Given the description of an element on the screen output the (x, y) to click on. 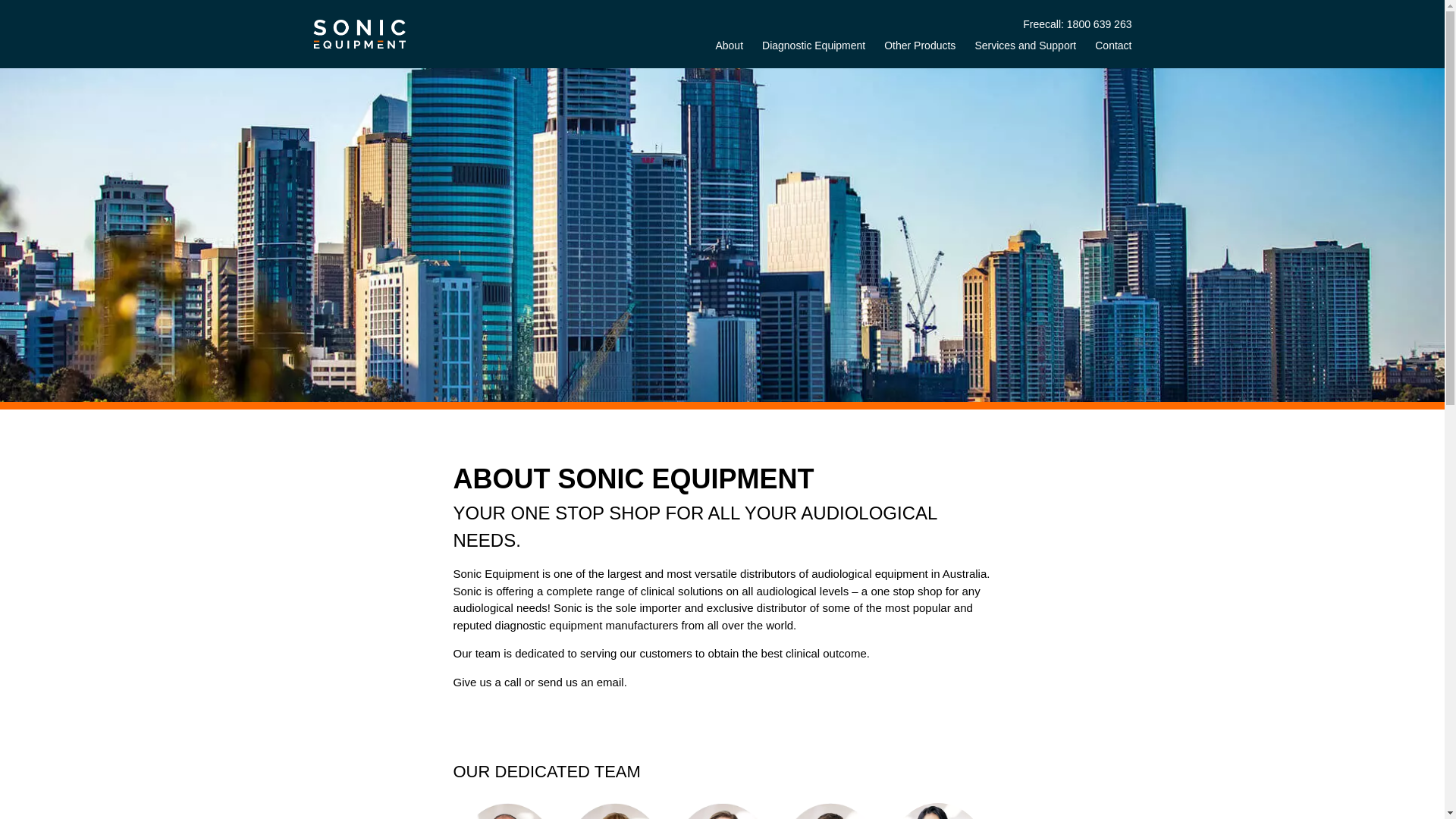
Diagnostic Equipment (803, 50)
About (718, 50)
About (718, 50)
Freecall: 1800 639 263 (1077, 24)
Diagnostic Equipment (803, 50)
